Given the description of an element on the screen output the (x, y) to click on. 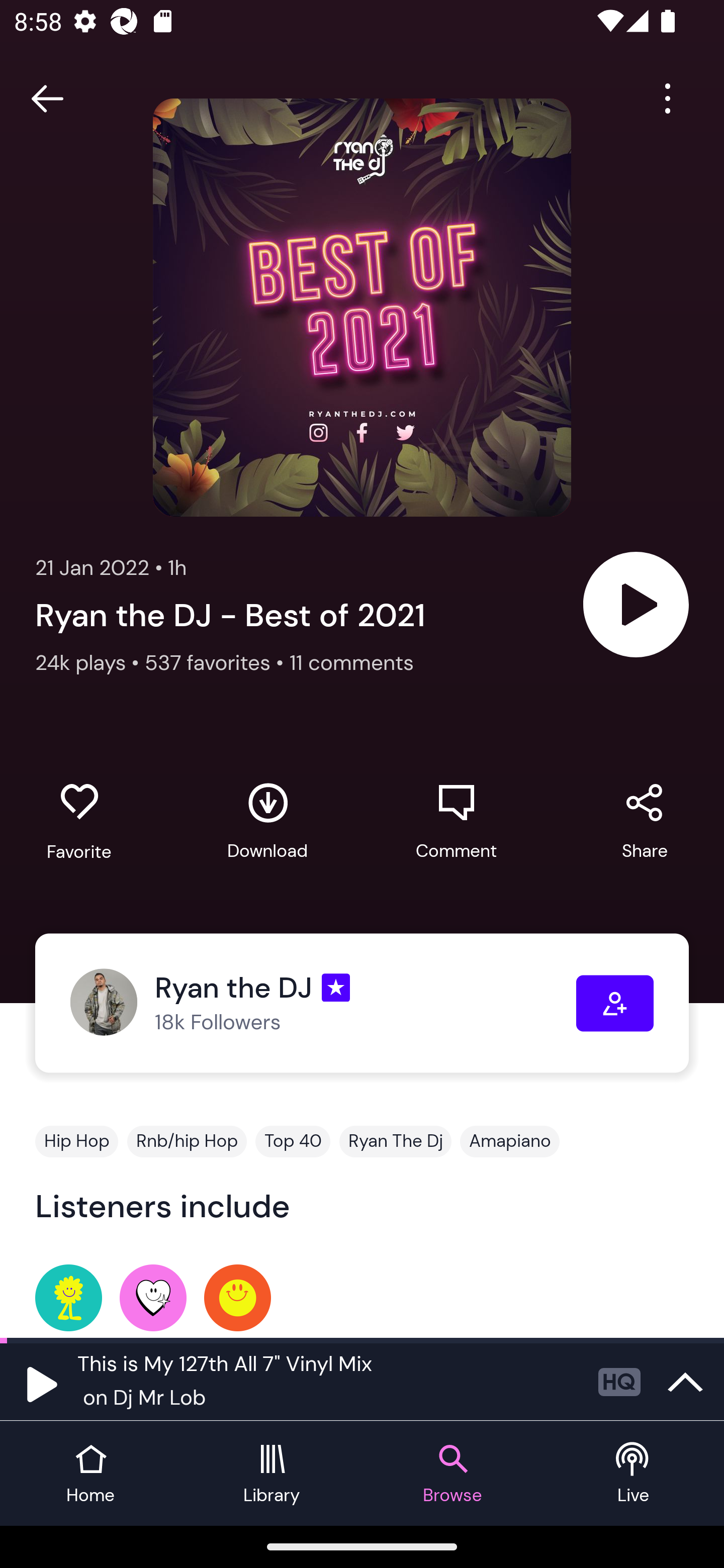
537 favorites •  (216, 662)
11 comments (351, 662)
Favorite (79, 821)
Download (267, 821)
Comment (455, 821)
Share (644, 821)
Follow (614, 1003)
Hip Hop (76, 1141)
Rnb/hip Hop (186, 1141)
Top 40 (292, 1141)
Ryan The Dj (395, 1141)
Amapiano (509, 1141)
Home tab Home (90, 1473)
Library tab Library (271, 1473)
Browse tab Browse (452, 1473)
Live tab Live (633, 1473)
